Given the description of an element on the screen output the (x, y) to click on. 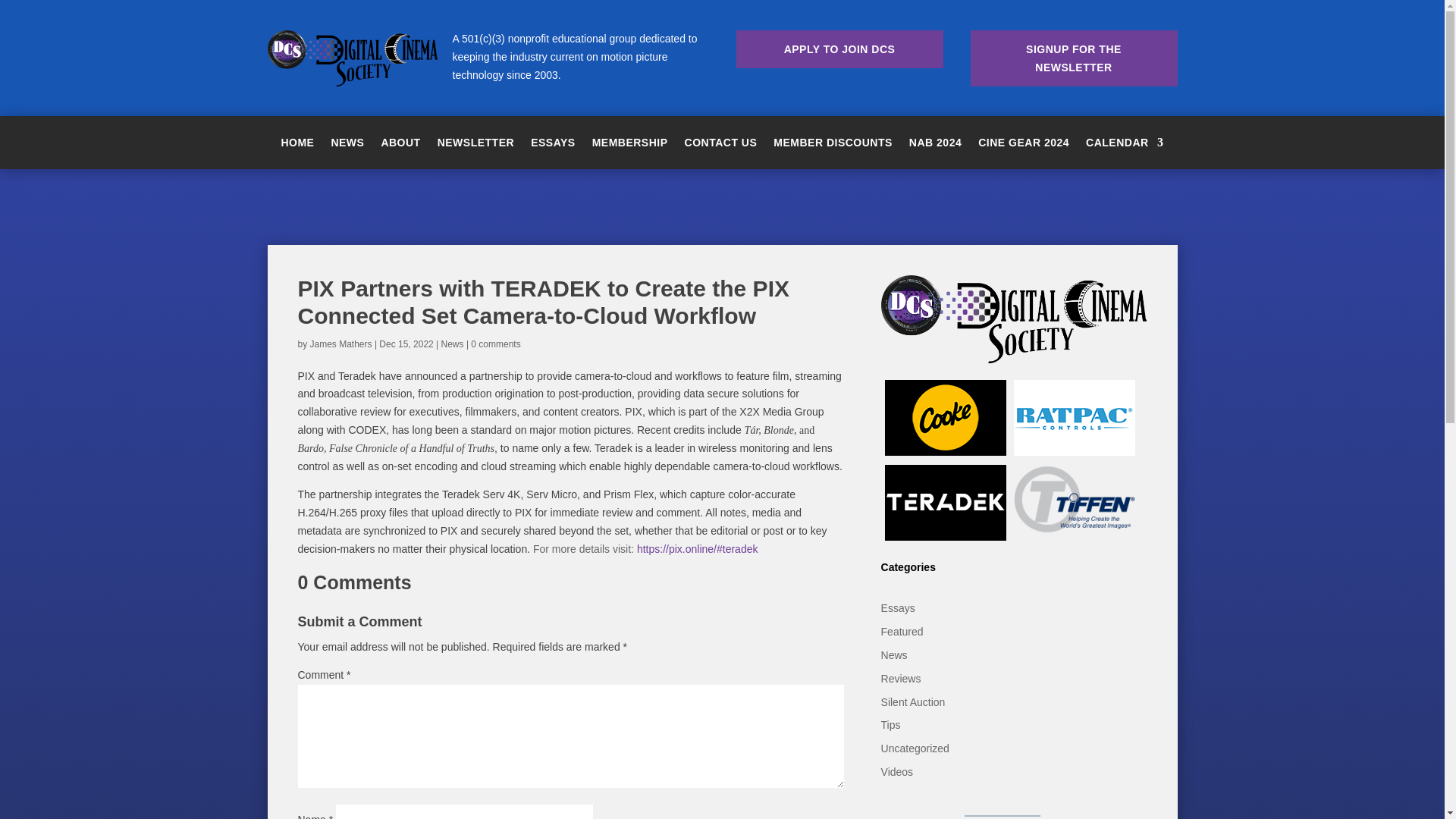
Silent Auction (912, 702)
NEWSLETTER (475, 145)
MEMBERSHIP (630, 145)
NAB 2024 (934, 145)
Tips (890, 725)
ABOUT (400, 145)
HOME (297, 145)
Posts by James Mathers (341, 344)
NEWS (347, 145)
0 comments (494, 344)
